Given the description of an element on the screen output the (x, y) to click on. 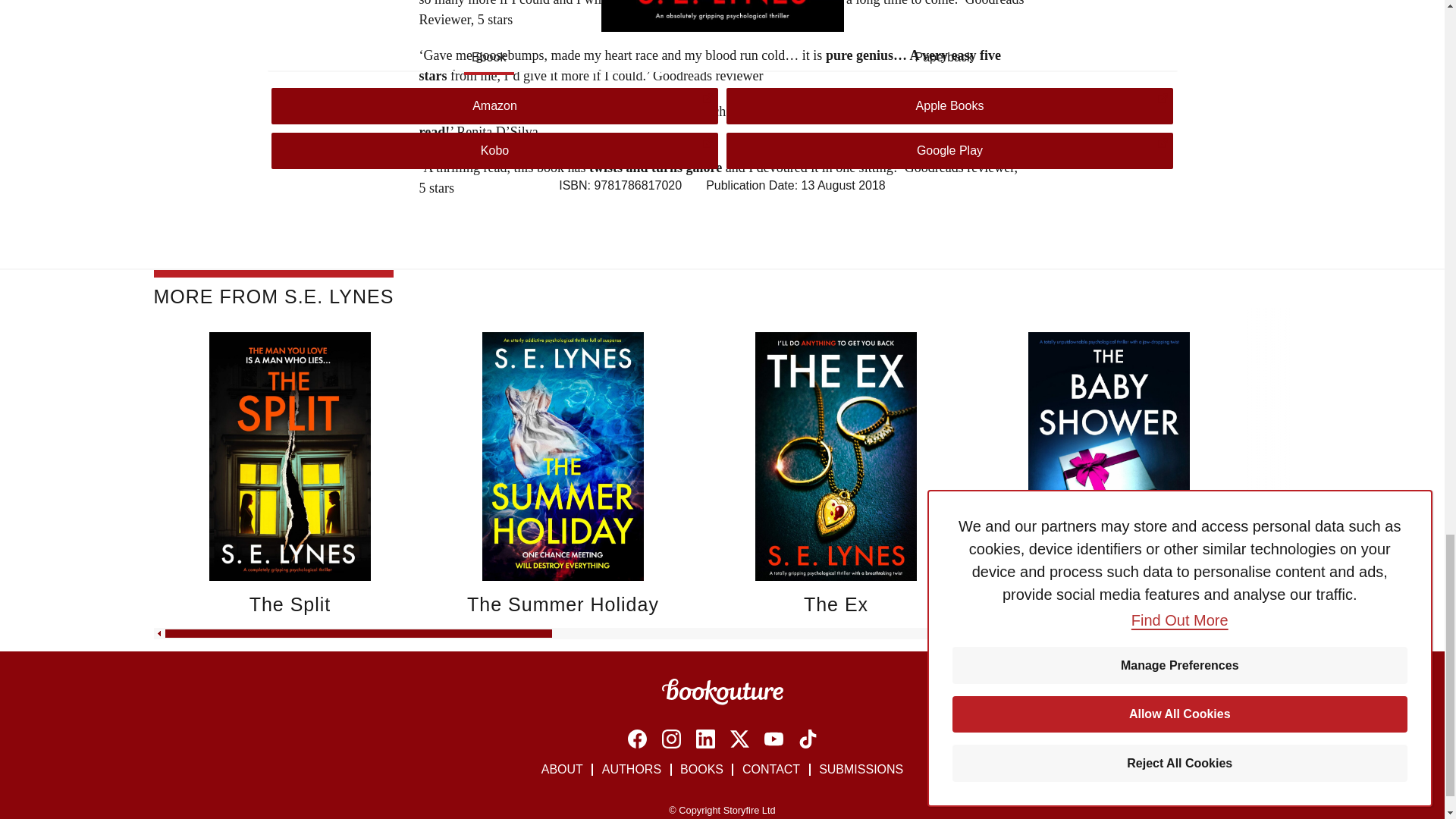
The Ex (835, 604)
The Summer Holiday (563, 604)
The Split (289, 604)
